Given the description of an element on the screen output the (x, y) to click on. 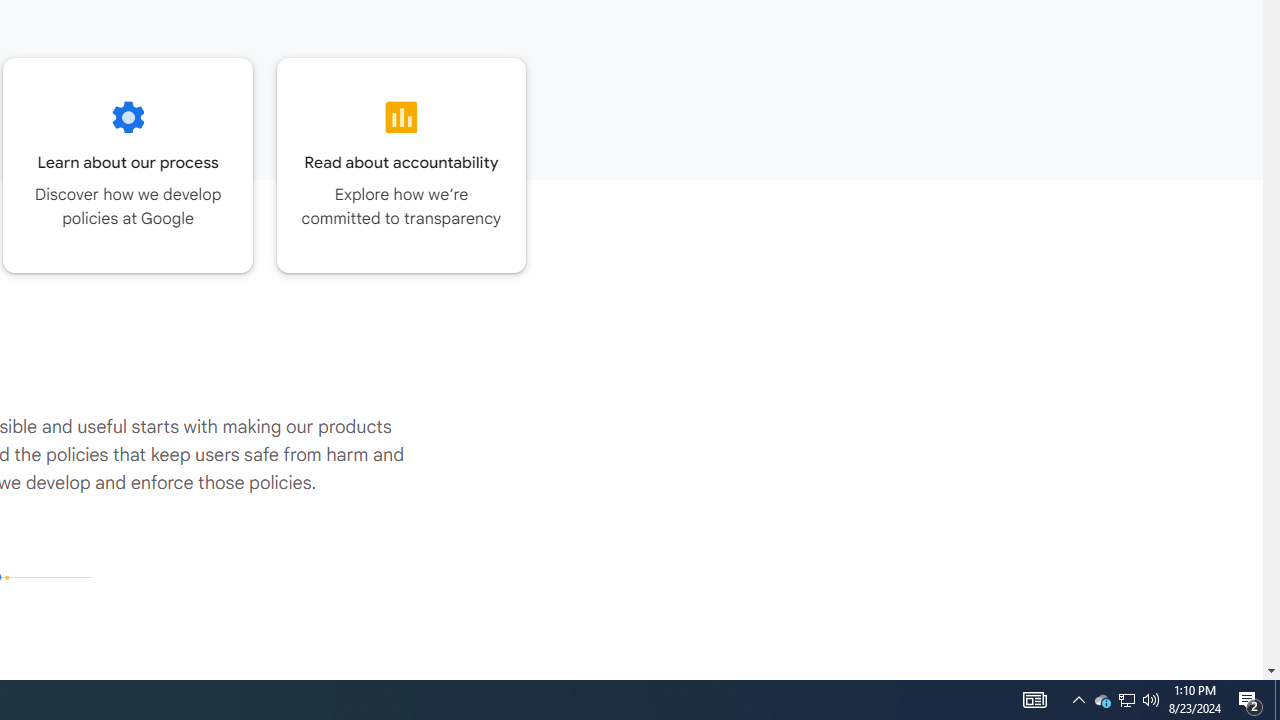
Go to the Accountability page (401, 165)
Go to the Our process page (127, 165)
